Given the description of an element on the screen output the (x, y) to click on. 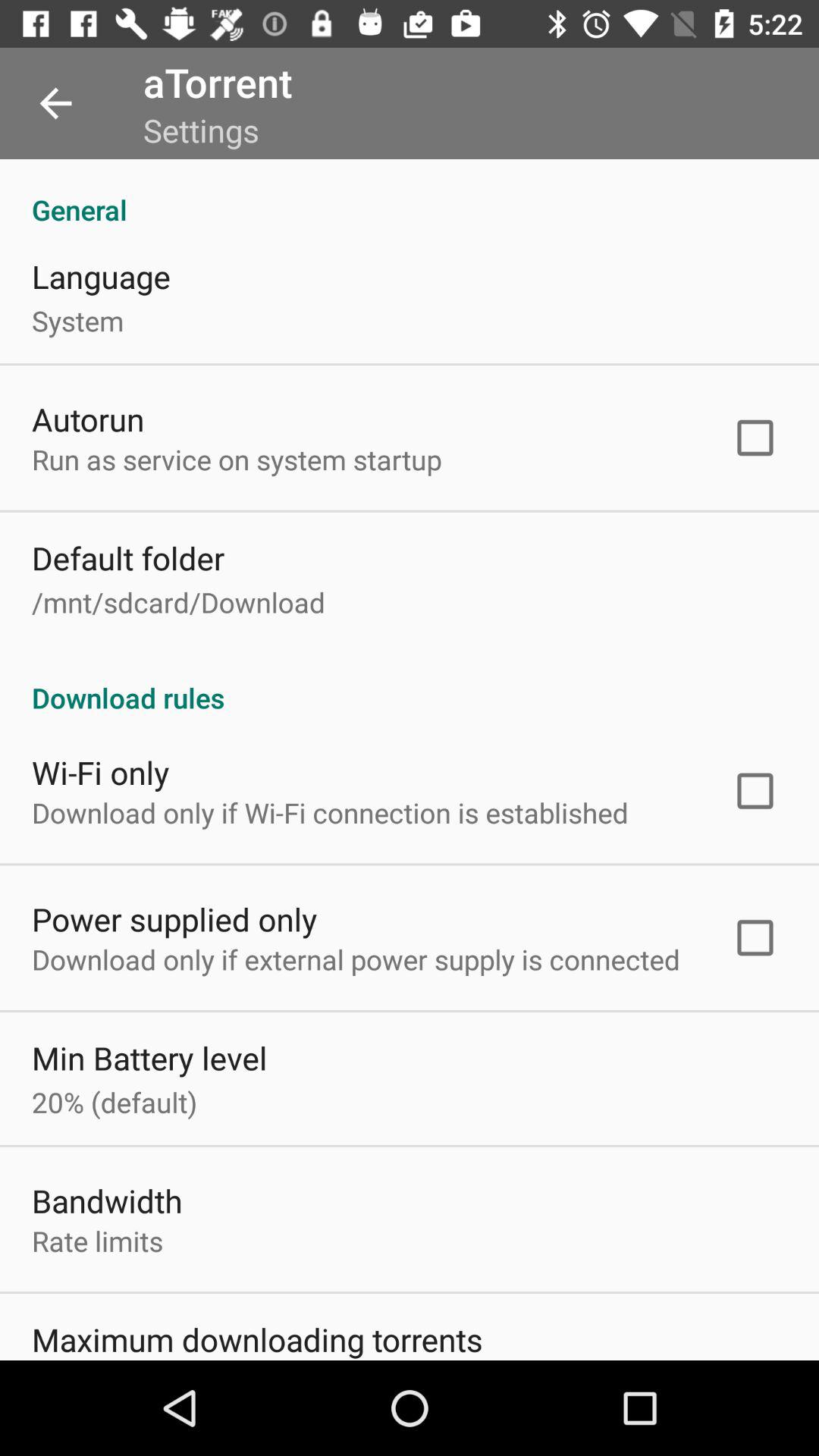
tap run as service icon (236, 459)
